Given the description of an element on the screen output the (x, y) to click on. 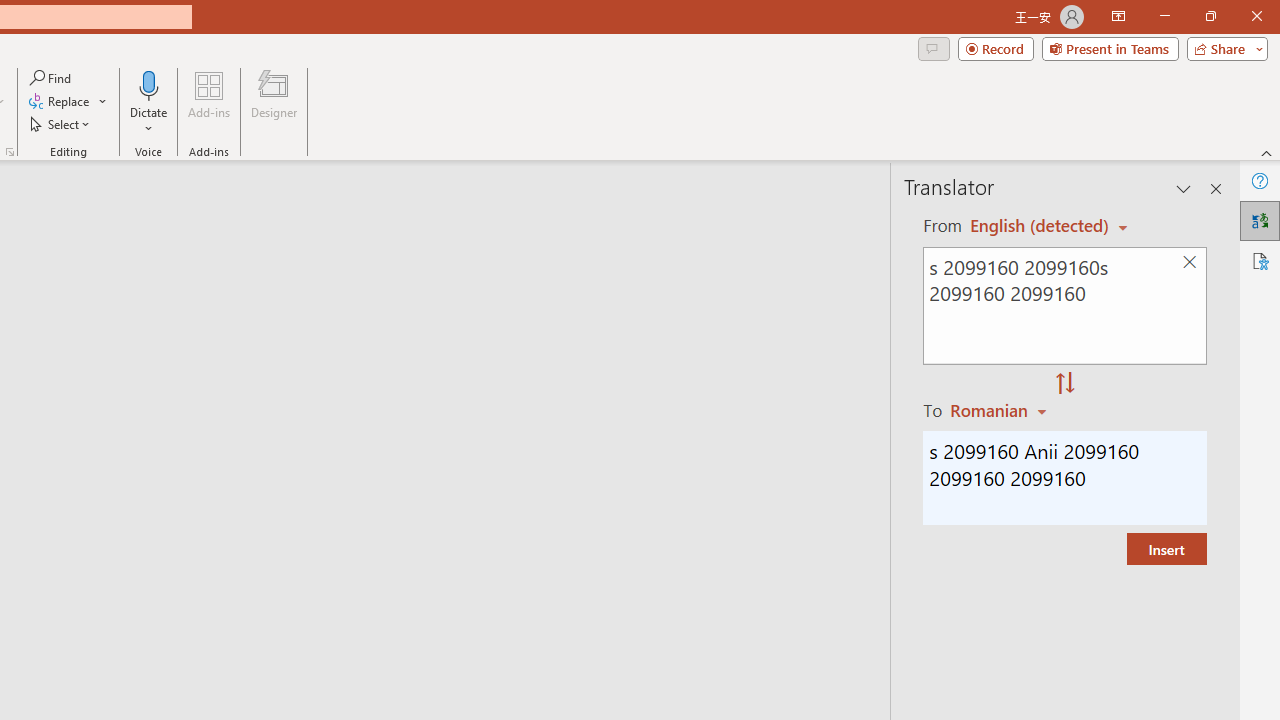
Romanian (1001, 409)
Czech (detected) (1039, 225)
